Given the description of an element on the screen output the (x, y) to click on. 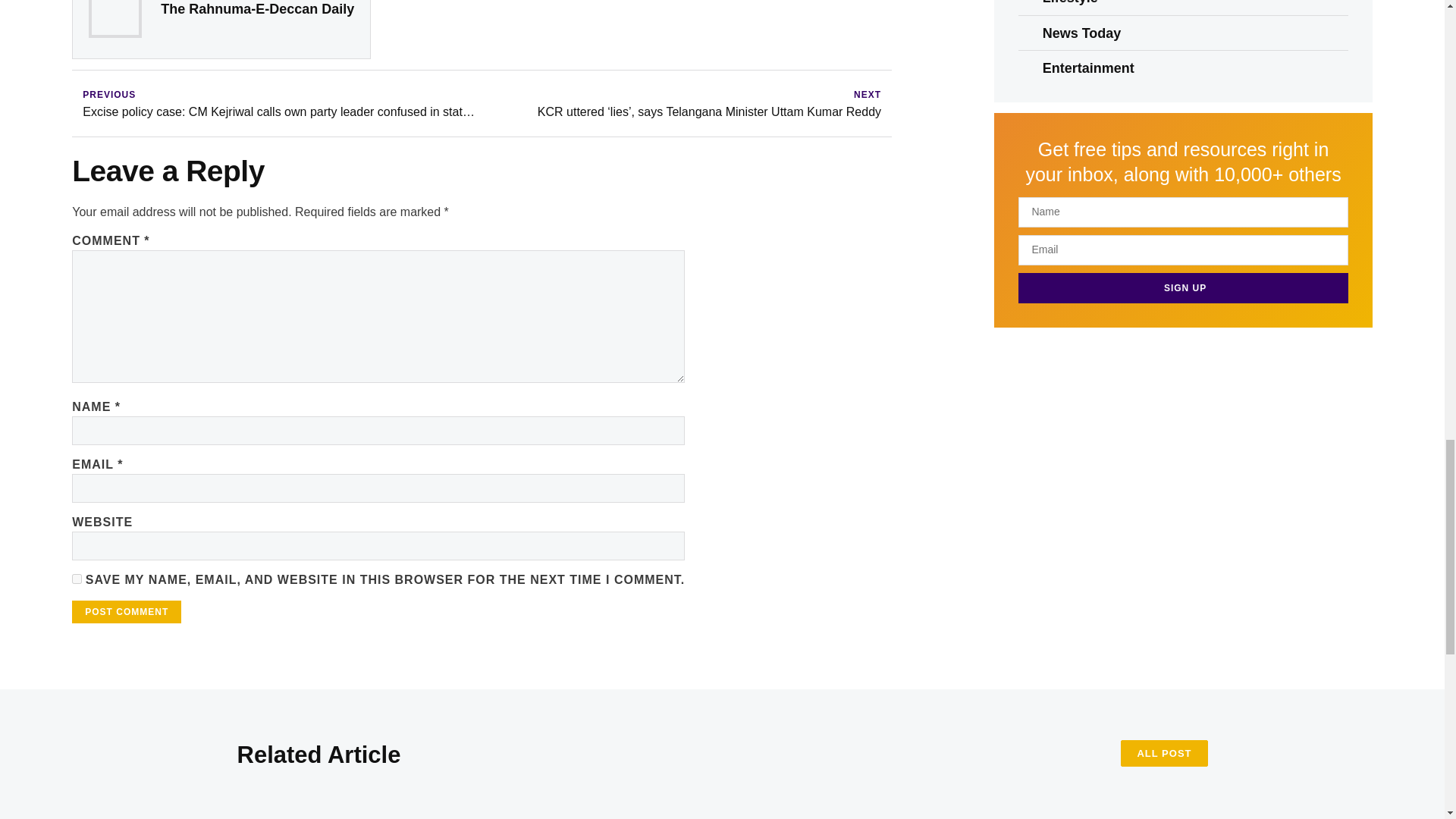
yes (76, 578)
Post Comment (125, 611)
